Given the description of an element on the screen output the (x, y) to click on. 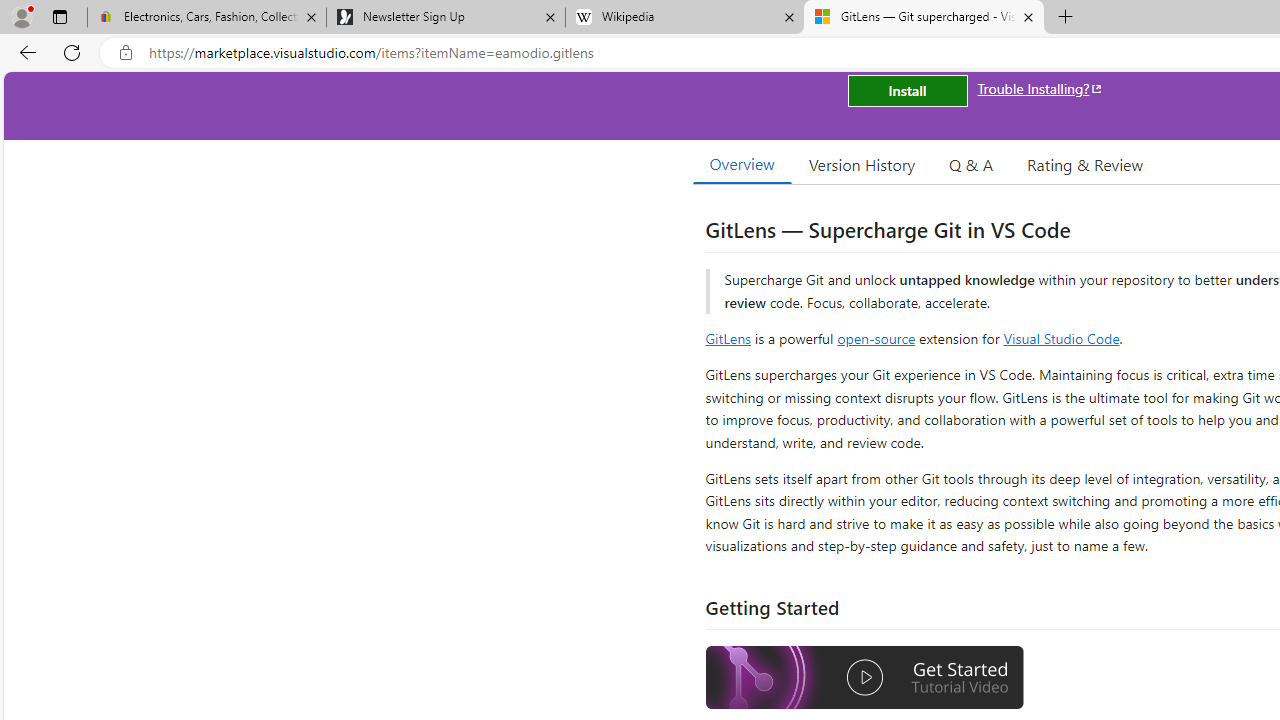
Q & A (971, 164)
Electronics, Cars, Fashion, Collectibles & More | eBay (207, 17)
Rating & Review (1084, 164)
Version History (862, 164)
